Given the description of an element on the screen output the (x, y) to click on. 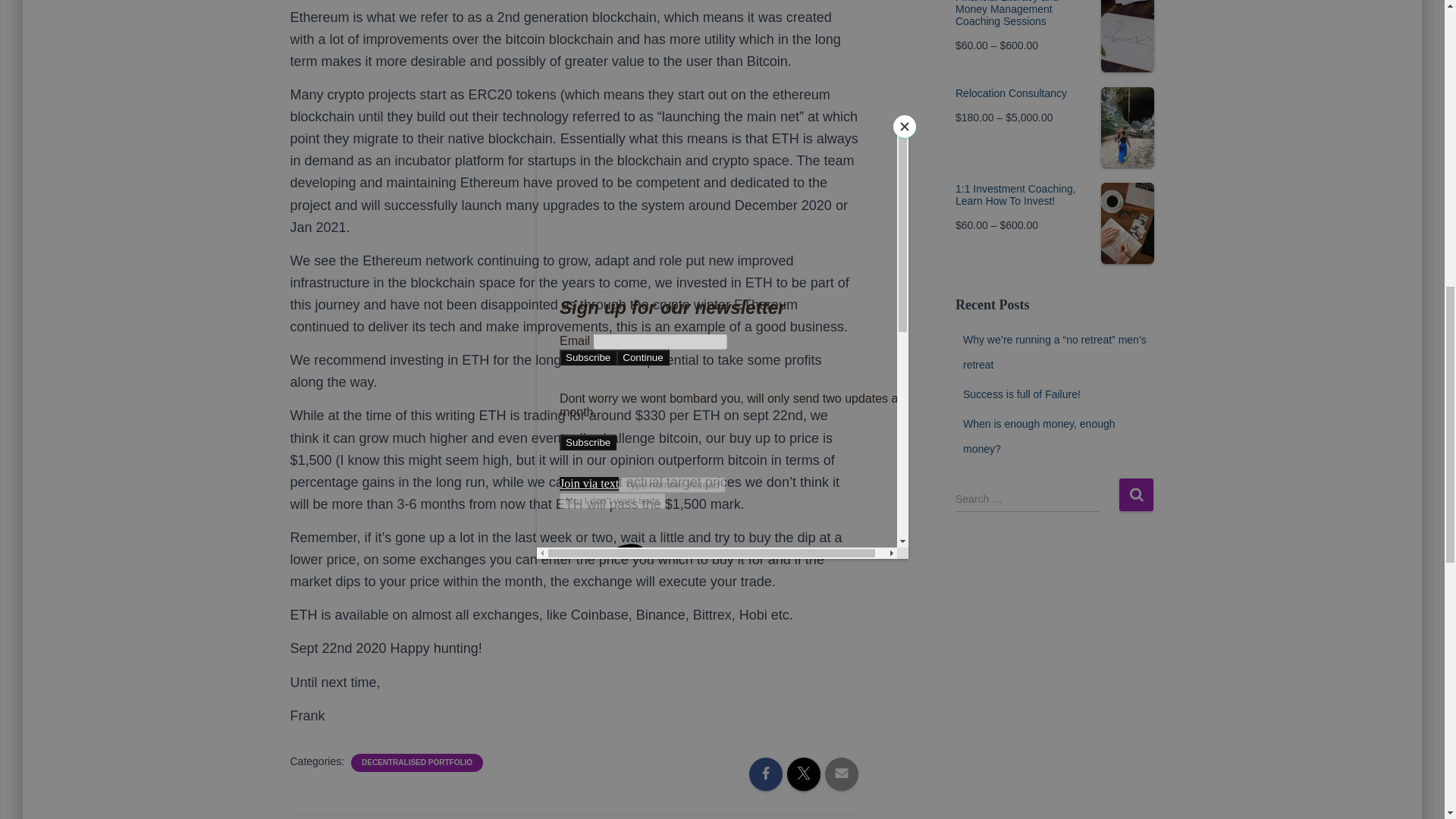
Financial Literacy and Money Management Coaching Sessions (1054, 13)
DECENTRALISED PORTFOLIO (416, 762)
When is enough money, enough money? (1038, 436)
Search (1136, 494)
1:1 Investment Coaching, Learn How To Invest! (1054, 194)
Search (1136, 494)
Search (1136, 494)
Success is full of Failure! (1021, 394)
Relocation Consultancy (1054, 92)
